Given the description of an element on the screen output the (x, y) to click on. 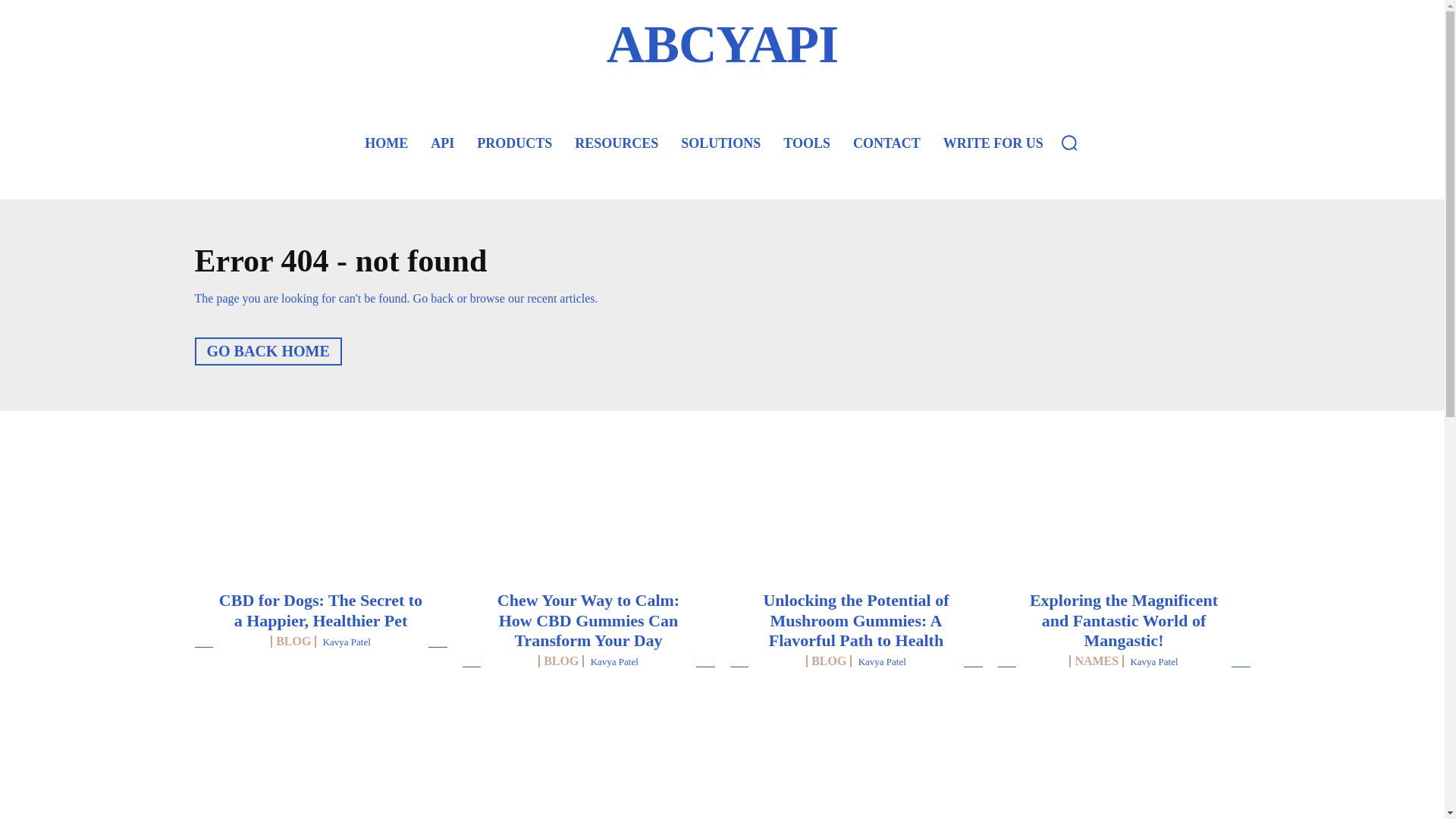
TOOLS (807, 143)
Go back home (266, 350)
Chaver Ott Release Date Announced! (588, 758)
API (442, 143)
HOME (385, 143)
CBD for Dogs: The Secret to a Happier, Healthier Pet (319, 534)
CBD for Dogs: The Secret to a Happier, Healthier Pet (320, 609)
CONTACT (886, 143)
RESOURCES (616, 143)
